Given the description of an element on the screen output the (x, y) to click on. 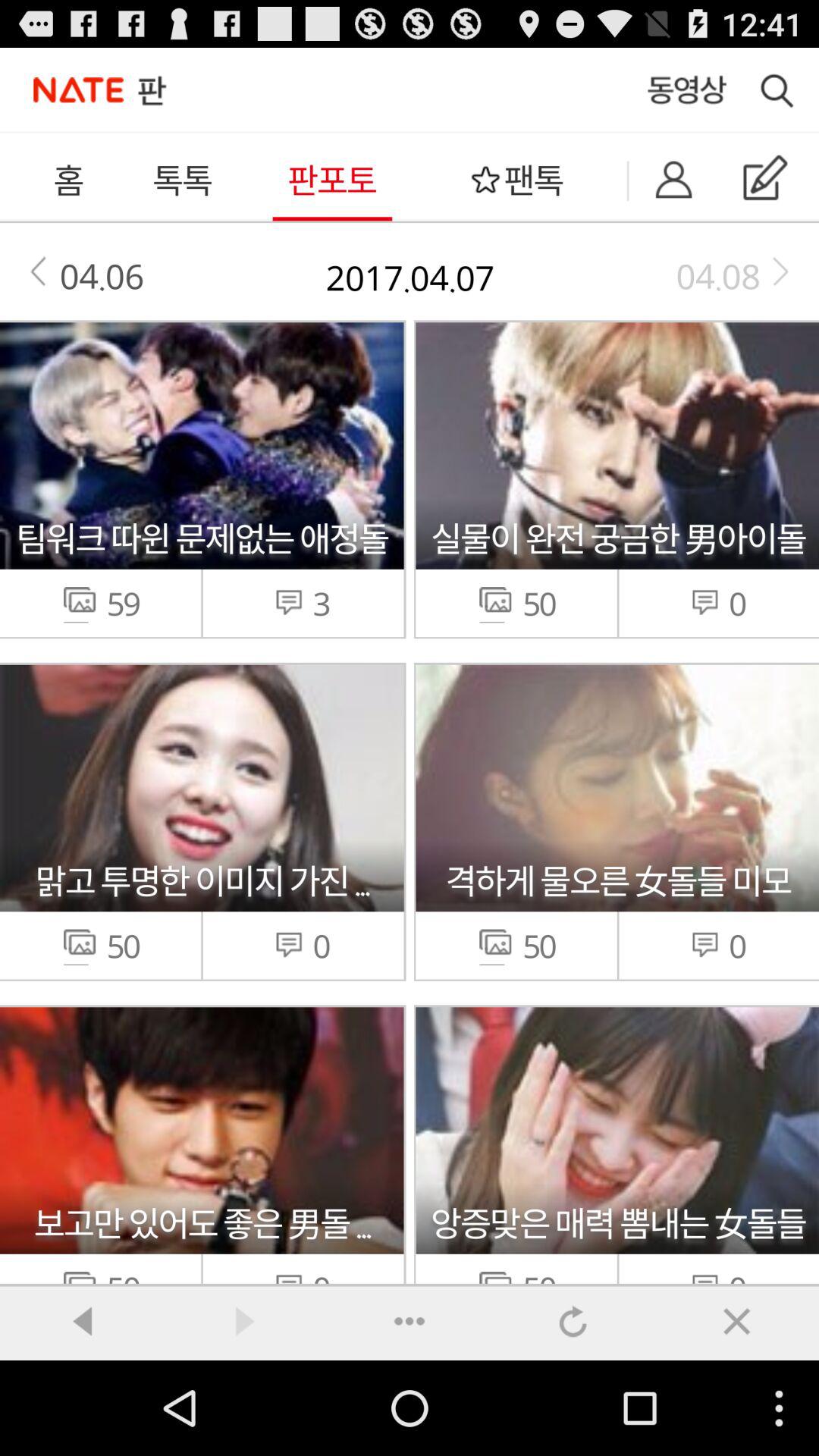
go to more options (409, 1320)
